Given the description of an element on the screen output the (x, y) to click on. 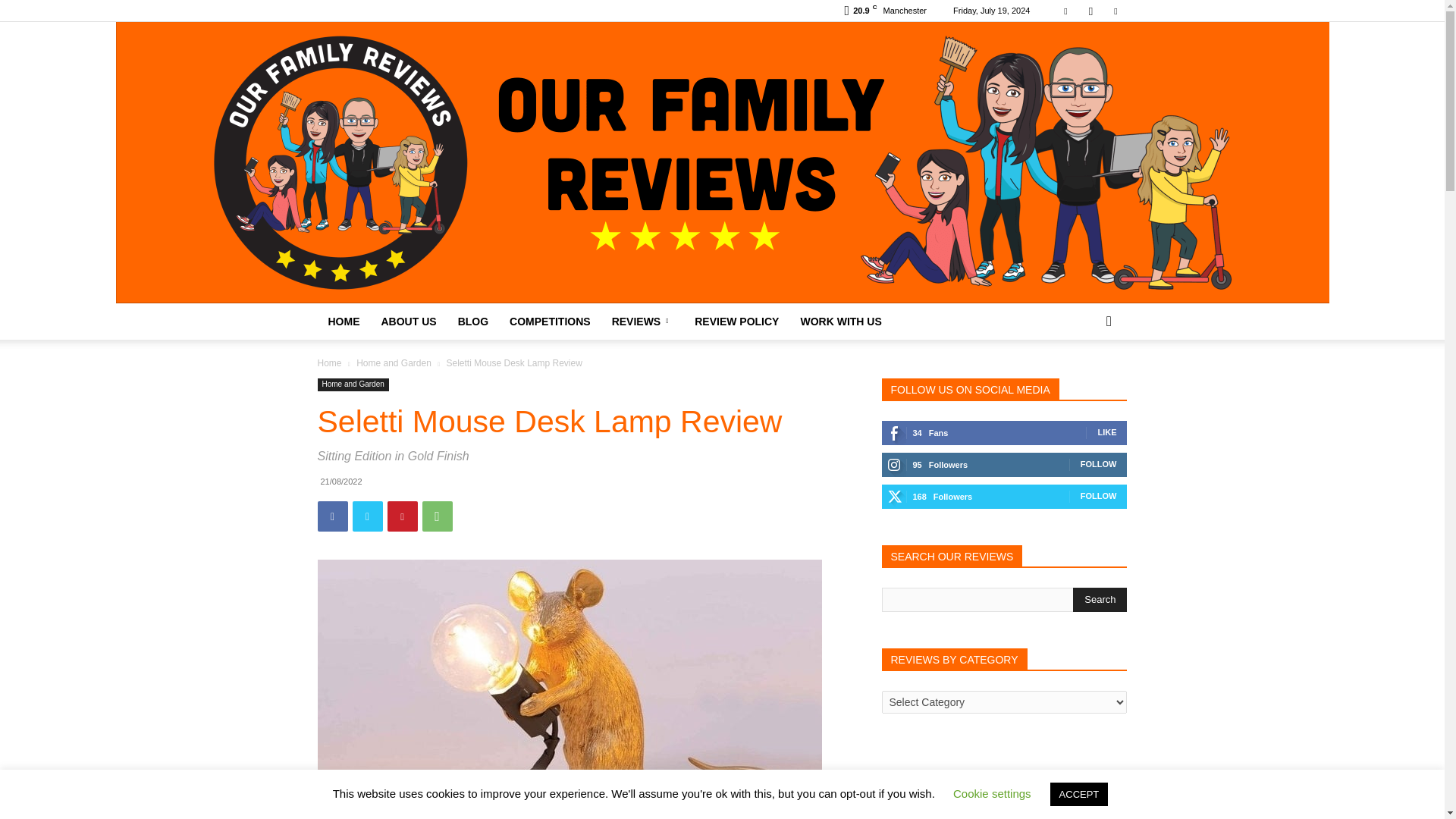
Twitter (1114, 10)
View all posts in Home and Garden (393, 362)
Facebook (332, 516)
BLOG (472, 321)
ABOUT US (407, 321)
Twitter (366, 516)
Instagram (1090, 10)
COMPETITIONS (550, 321)
Facebook (1065, 10)
Search (1099, 599)
HOME (343, 321)
